Given the description of an element on the screen output the (x, y) to click on. 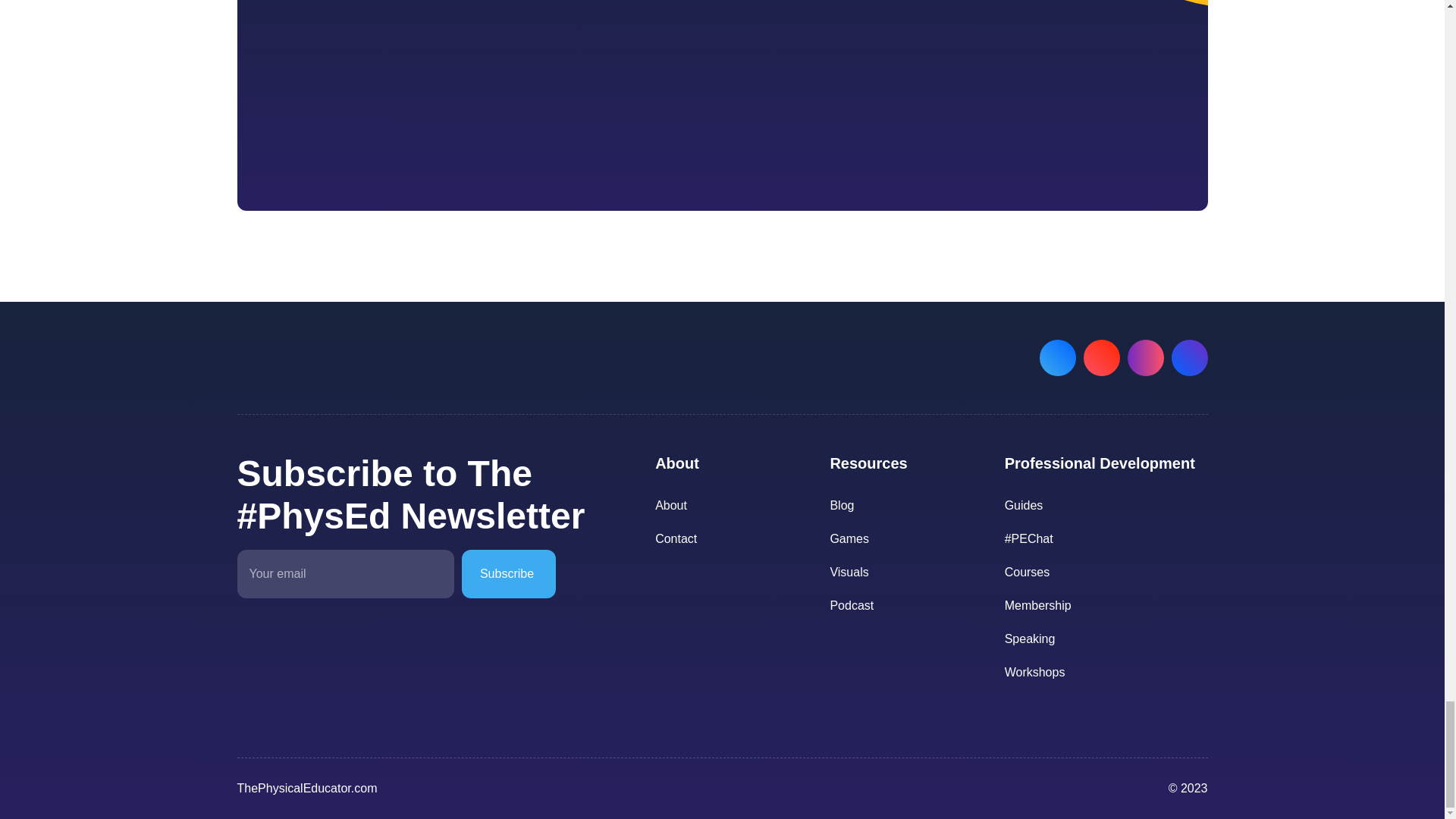
Subscribe  (508, 573)
Subscribe  (508, 573)
About (735, 505)
Subscribe  (582, 96)
